Given the description of an element on the screen output the (x, y) to click on. 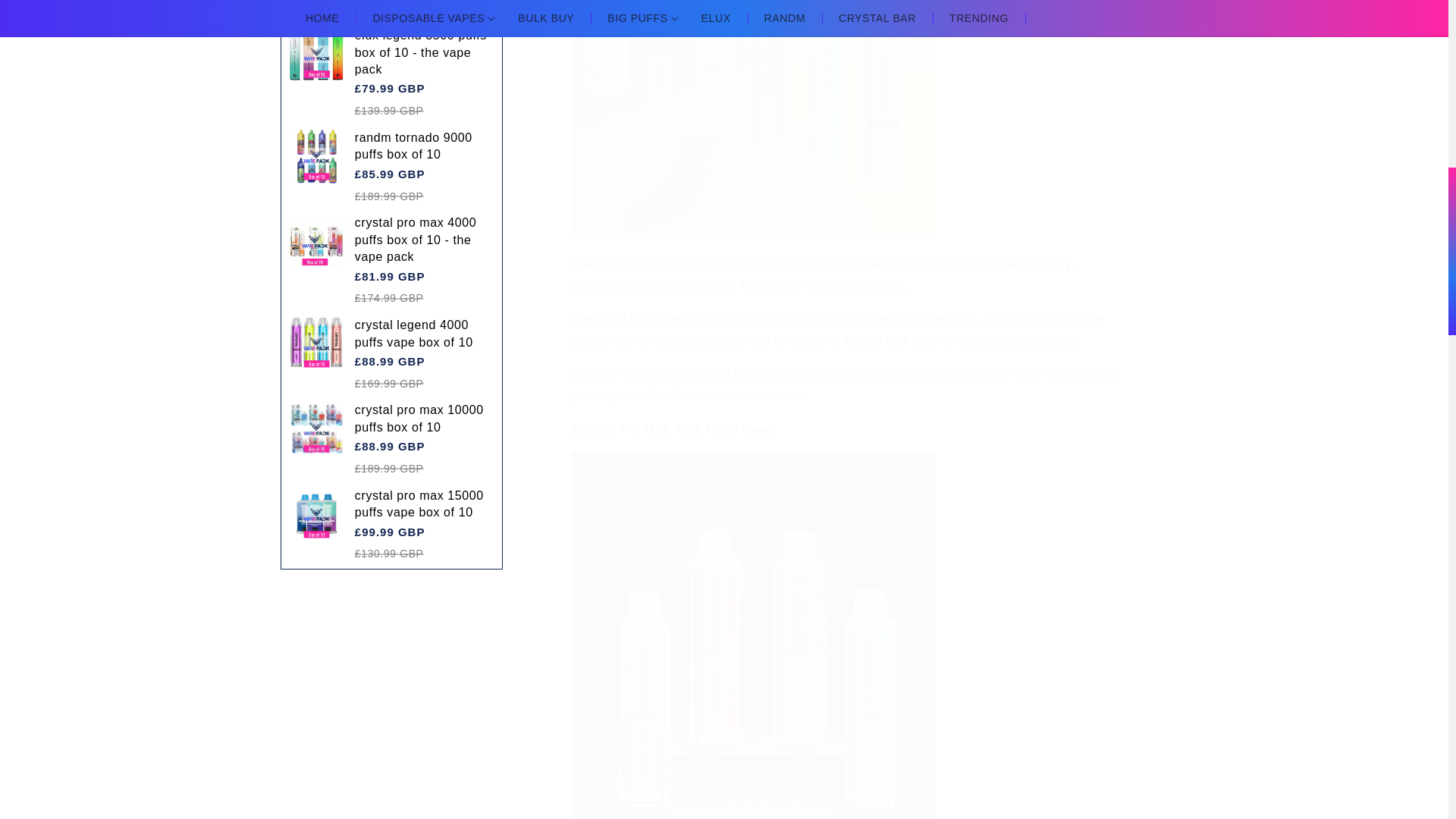
Crystal Legend Vape 4000 Puffs UK (753, 229)
Crystal Pro Max 4000 Puffs Vape UK (753, 812)
